Given the description of an element on the screen output the (x, y) to click on. 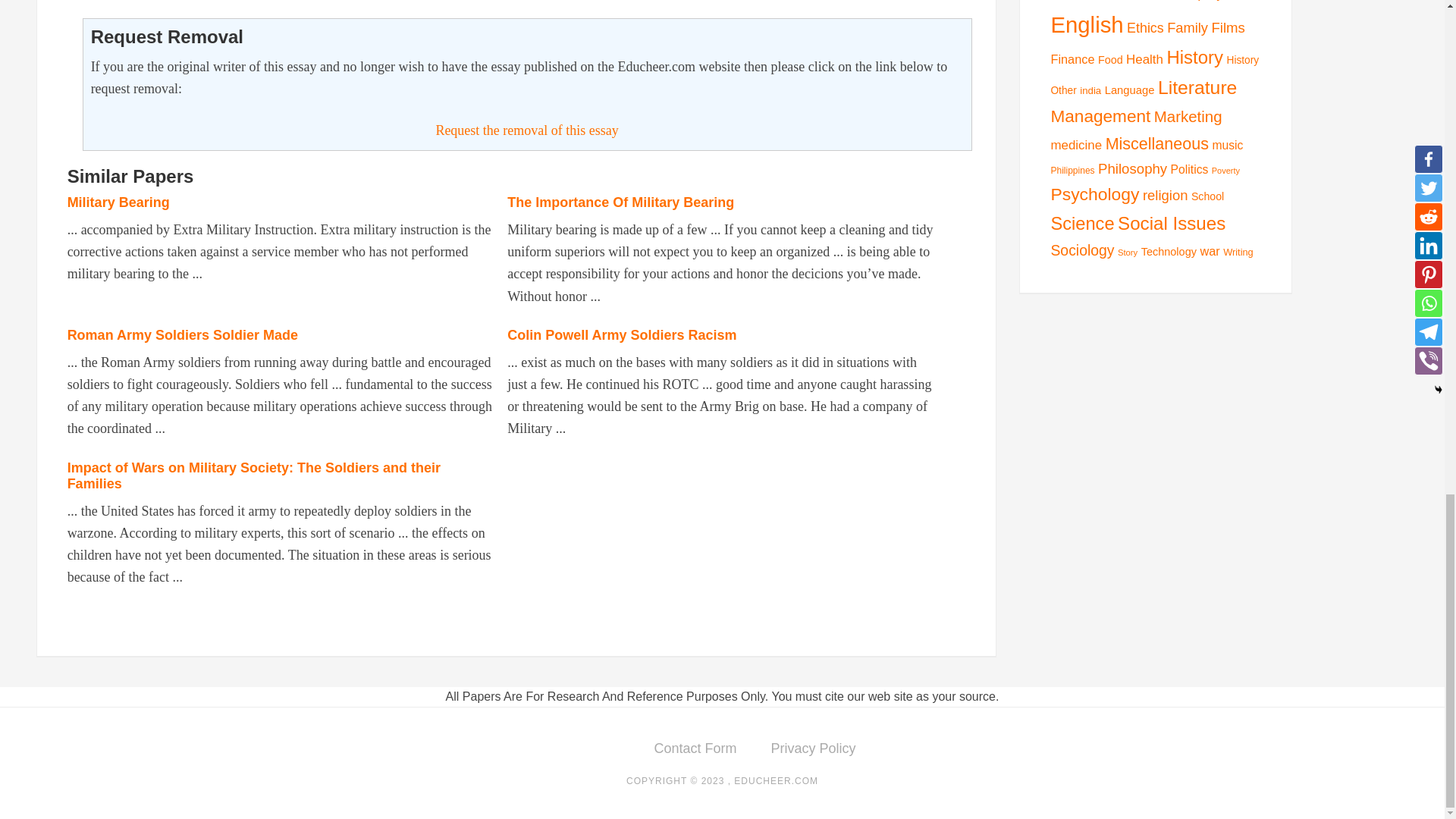
Colin Powell Army Soldiers Racism (621, 335)
Military Bearing (118, 201)
Roman Army Soldiers Soldier Made (182, 335)
The Importance Of Military Bearing (619, 201)
Request the removal of this essay (526, 130)
